Given the description of an element on the screen output the (x, y) to click on. 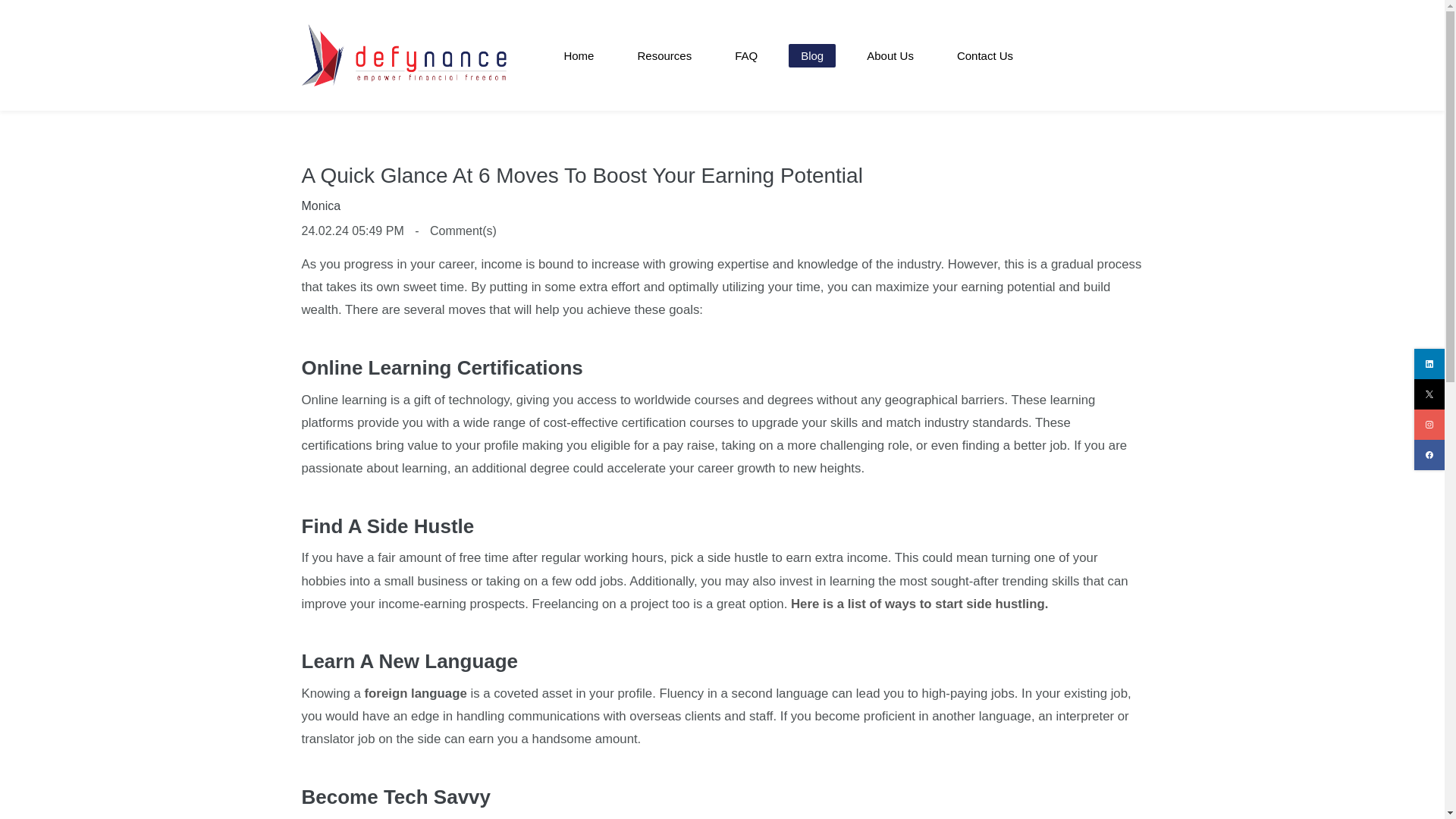
Blog (812, 55)
Here is a list of ways to start side hustling. (919, 603)
Here is a list of ways to start side hustling. (919, 603)
foreign la (393, 693)
Monica (320, 205)
FAQ (746, 55)
Contact Us (984, 55)
foreign languag (393, 693)
About Us (890, 55)
Home (578, 55)
